Given the description of an element on the screen output the (x, y) to click on. 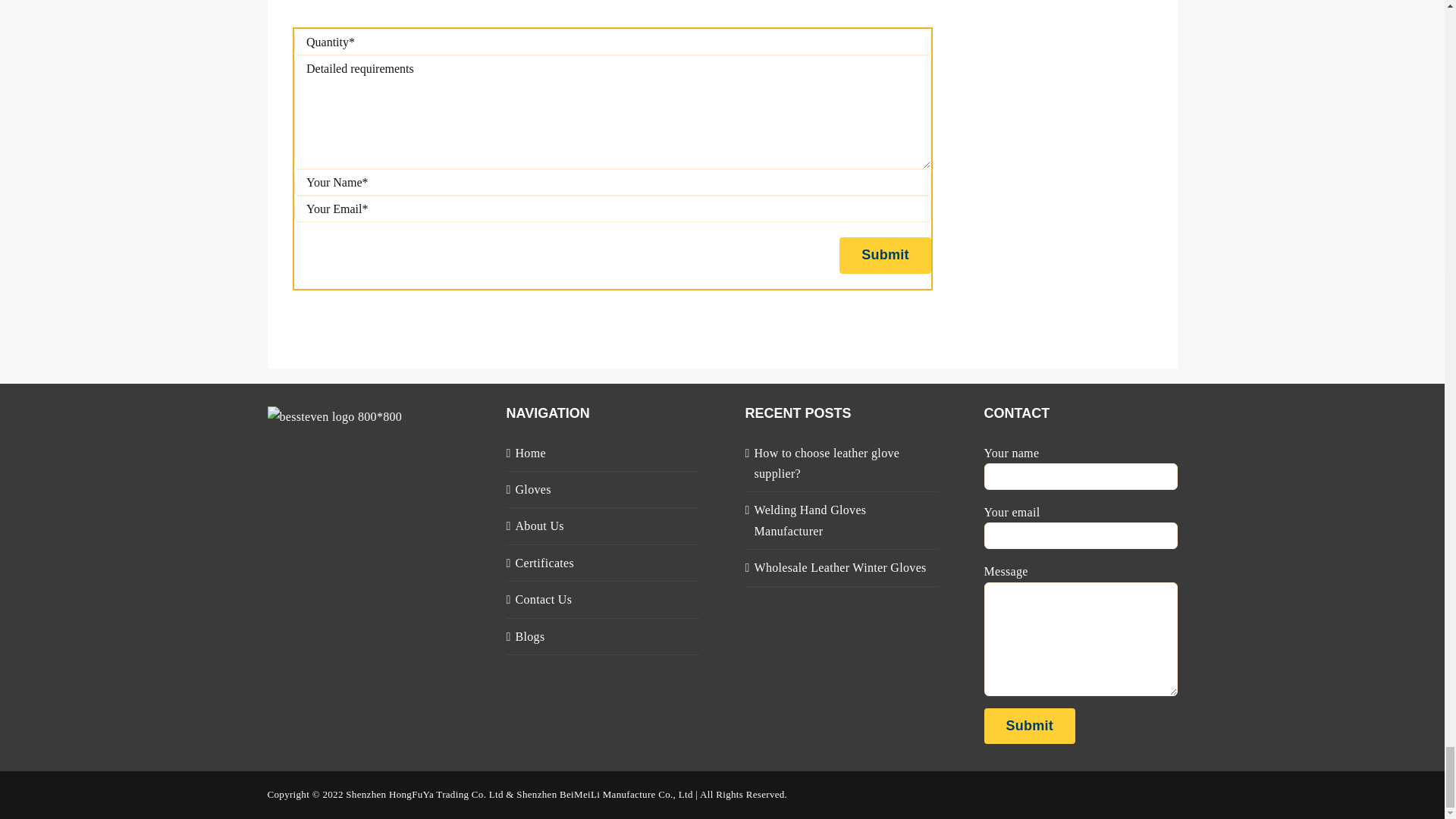
Submit (1029, 726)
Submit (885, 255)
